Given the description of an element on the screen output the (x, y) to click on. 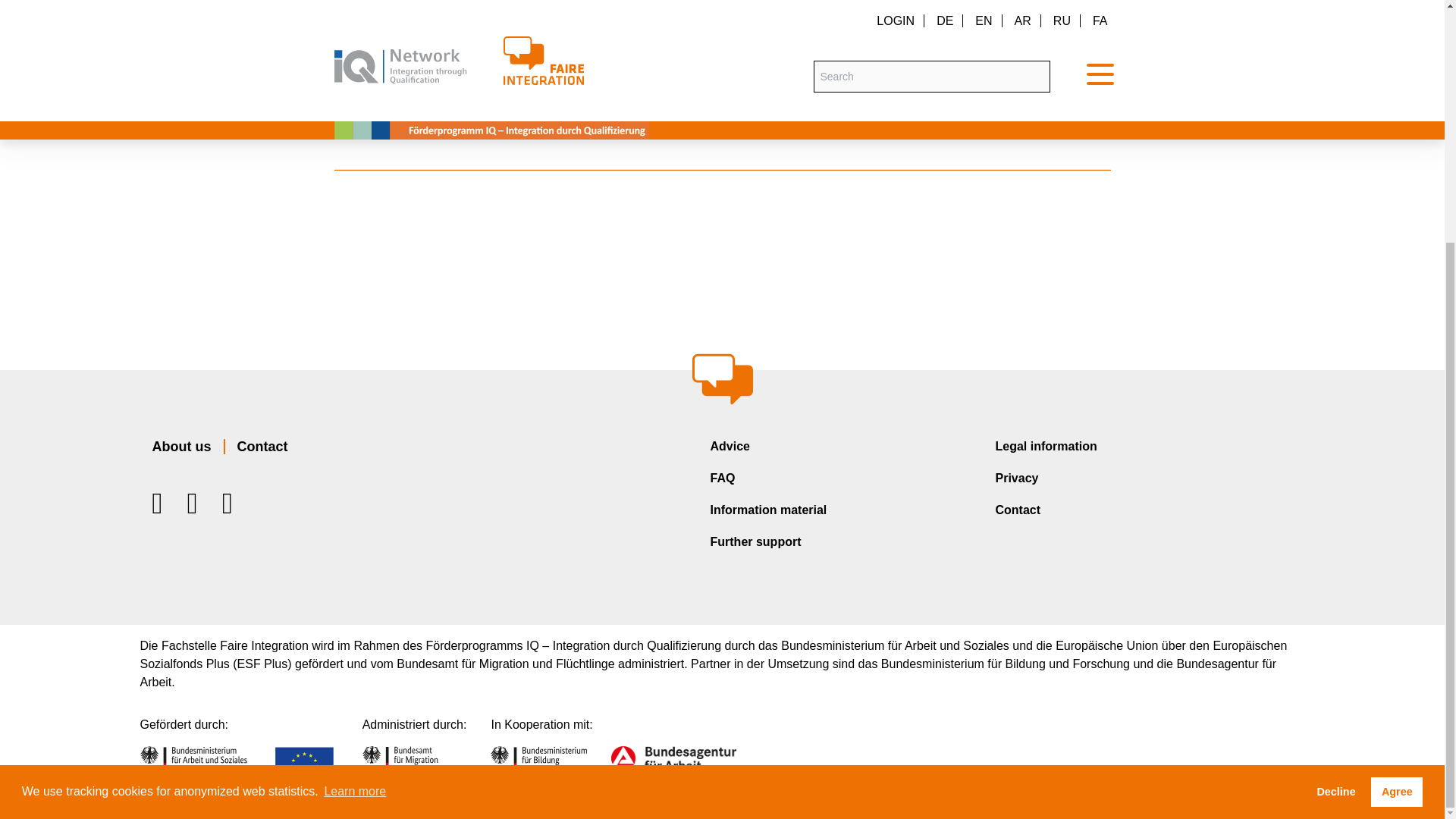
Decline (1335, 455)
Agree (1396, 455)
Learn more (354, 455)
